Given the description of an element on the screen output the (x, y) to click on. 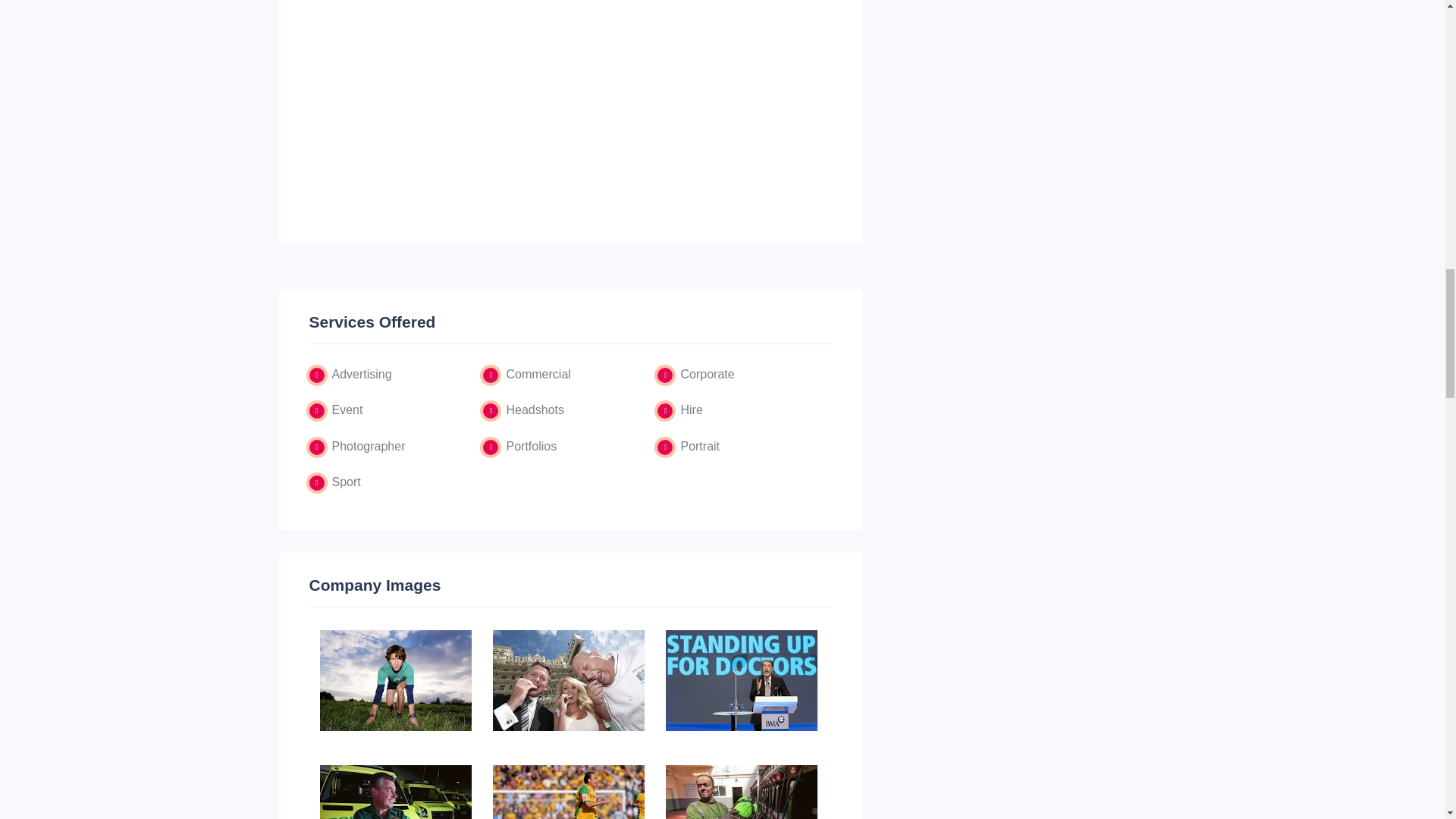
Portfolios (530, 445)
Advertising (361, 373)
Photographer (368, 445)
Hire (690, 409)
Corporate (706, 373)
Commercial (537, 373)
Event (346, 409)
Headshots (534, 409)
Sport (346, 481)
Portrait (699, 445)
